Given the description of an element on the screen output the (x, y) to click on. 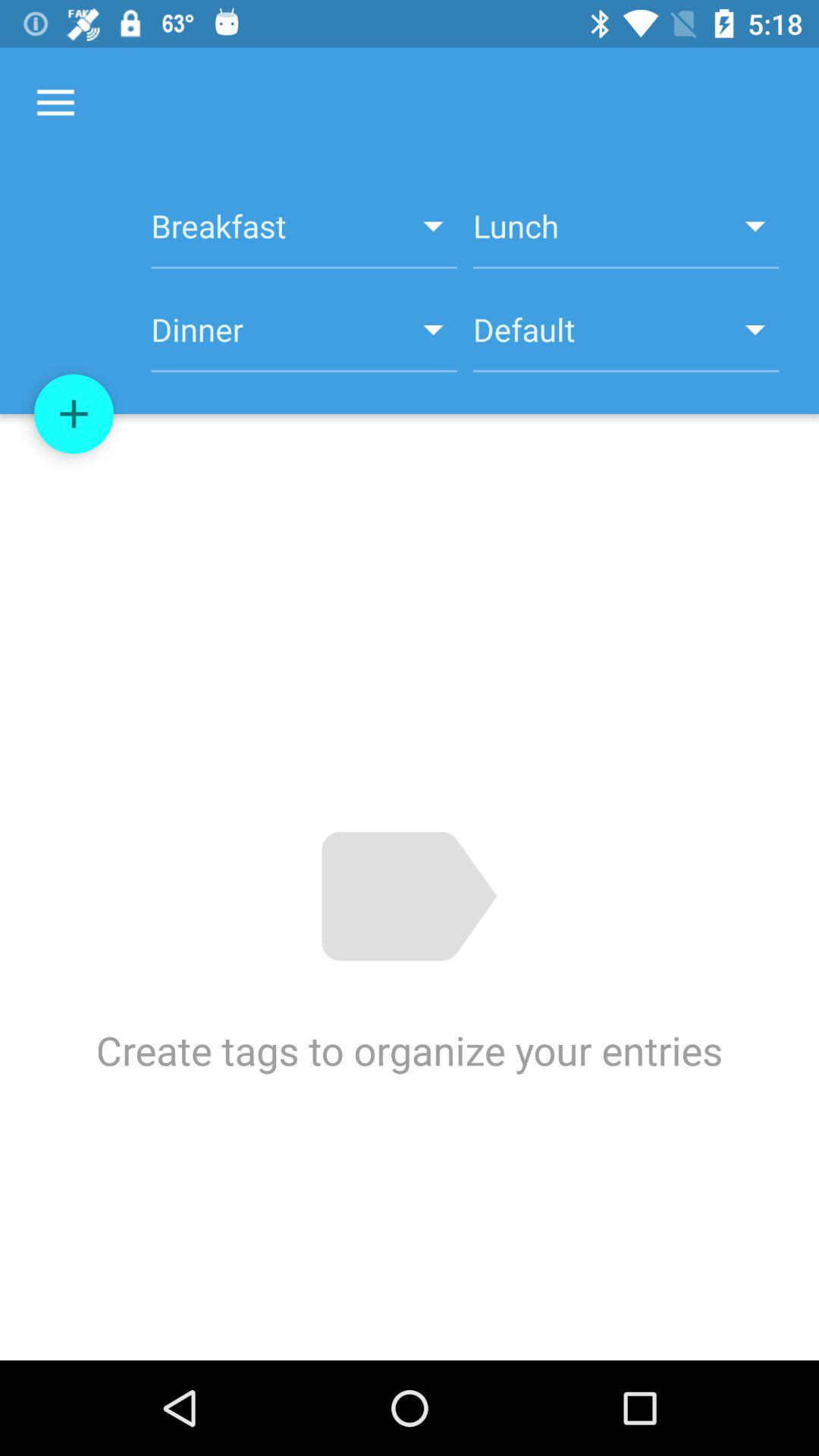
choose the item to the left of the default (304, 338)
